Given the description of an element on the screen output the (x, y) to click on. 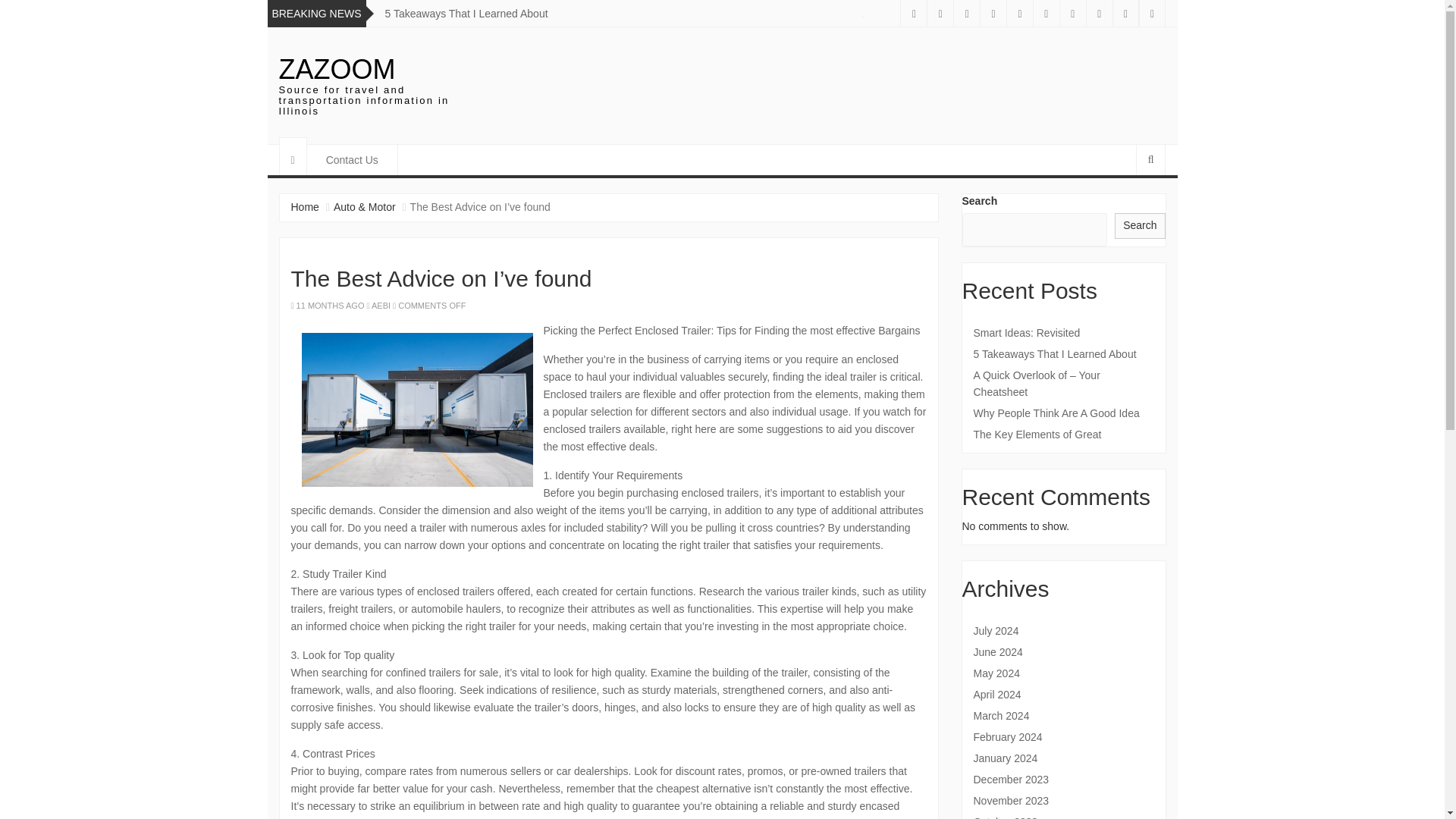
Contact Us (352, 159)
5 Takeaways That I Learned About (466, 13)
ZAZOOM (337, 69)
Home (304, 206)
5 Takeaways That I Learned About (1064, 353)
Search (1139, 225)
Smart Ideas: Revisited (1064, 332)
